Given the description of an element on the screen output the (x, y) to click on. 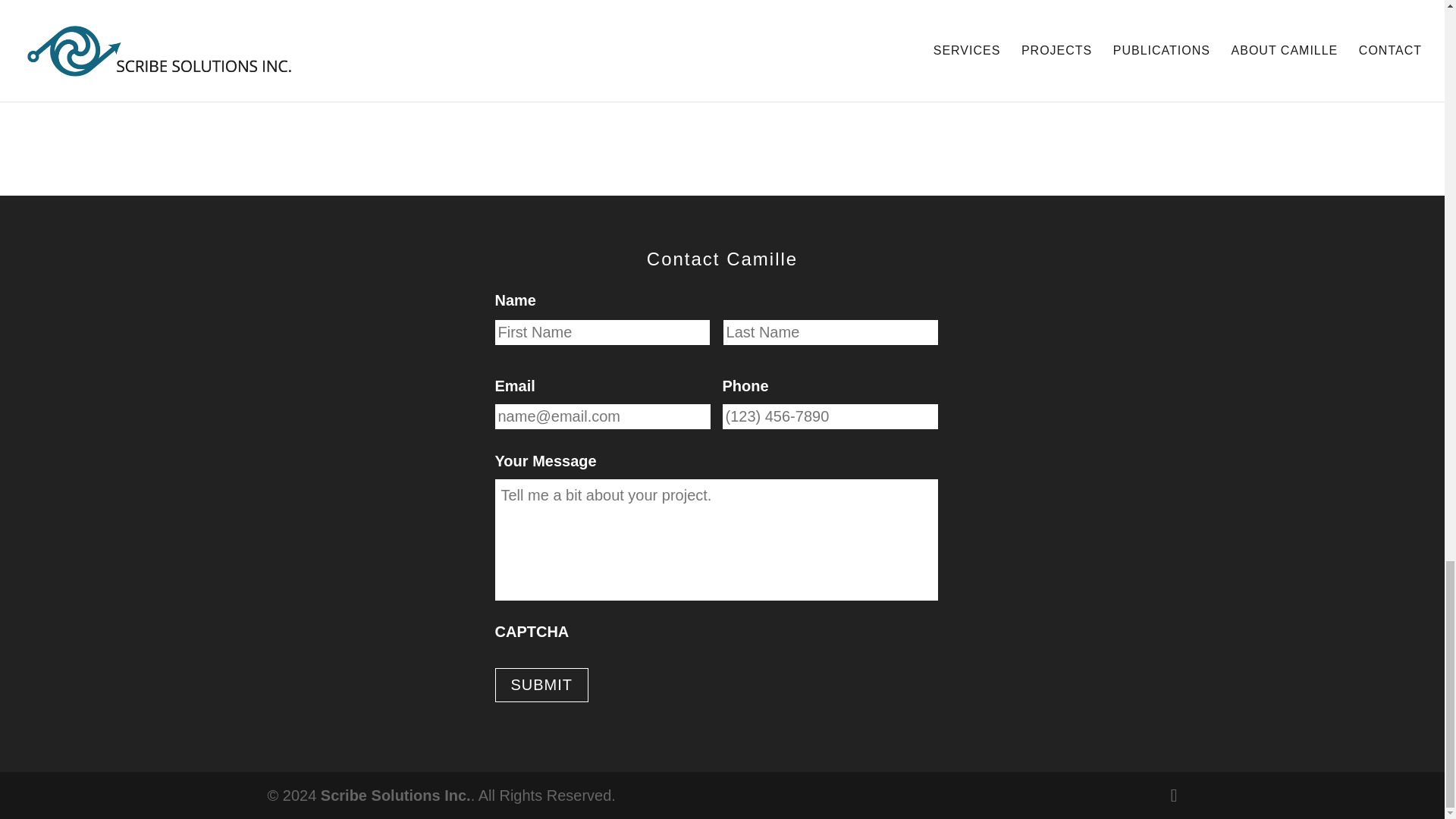
logo-suncor (361, 63)
logo-cenovus (1082, 63)
Submit (541, 684)
Technical Writing Coach in Calgary, Alberta Canada (395, 795)
Scribe Solutions Inc. (395, 795)
Submit (541, 684)
